Given the description of an element on the screen output the (x, y) to click on. 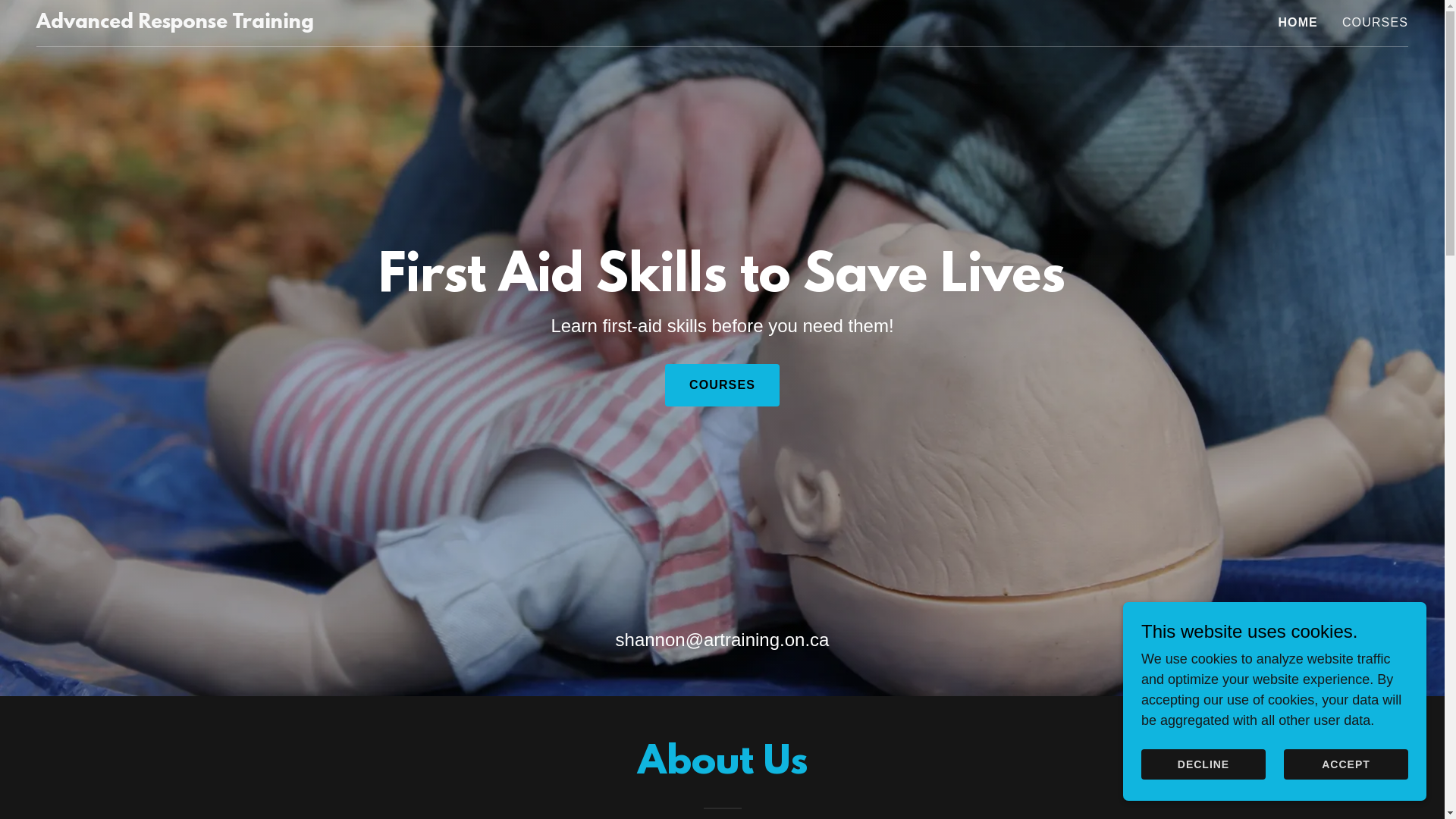
COURSES Element type: text (1374, 22)
HOME Element type: text (1297, 22)
ACCEPT Element type: text (1345, 764)
DECLINE Element type: text (1203, 764)
shannon@artraining.on.ca Element type: text (722, 639)
Advanced Response Training Element type: text (174, 23)
COURSES Element type: text (722, 385)
